Given the description of an element on the screen output the (x, y) to click on. 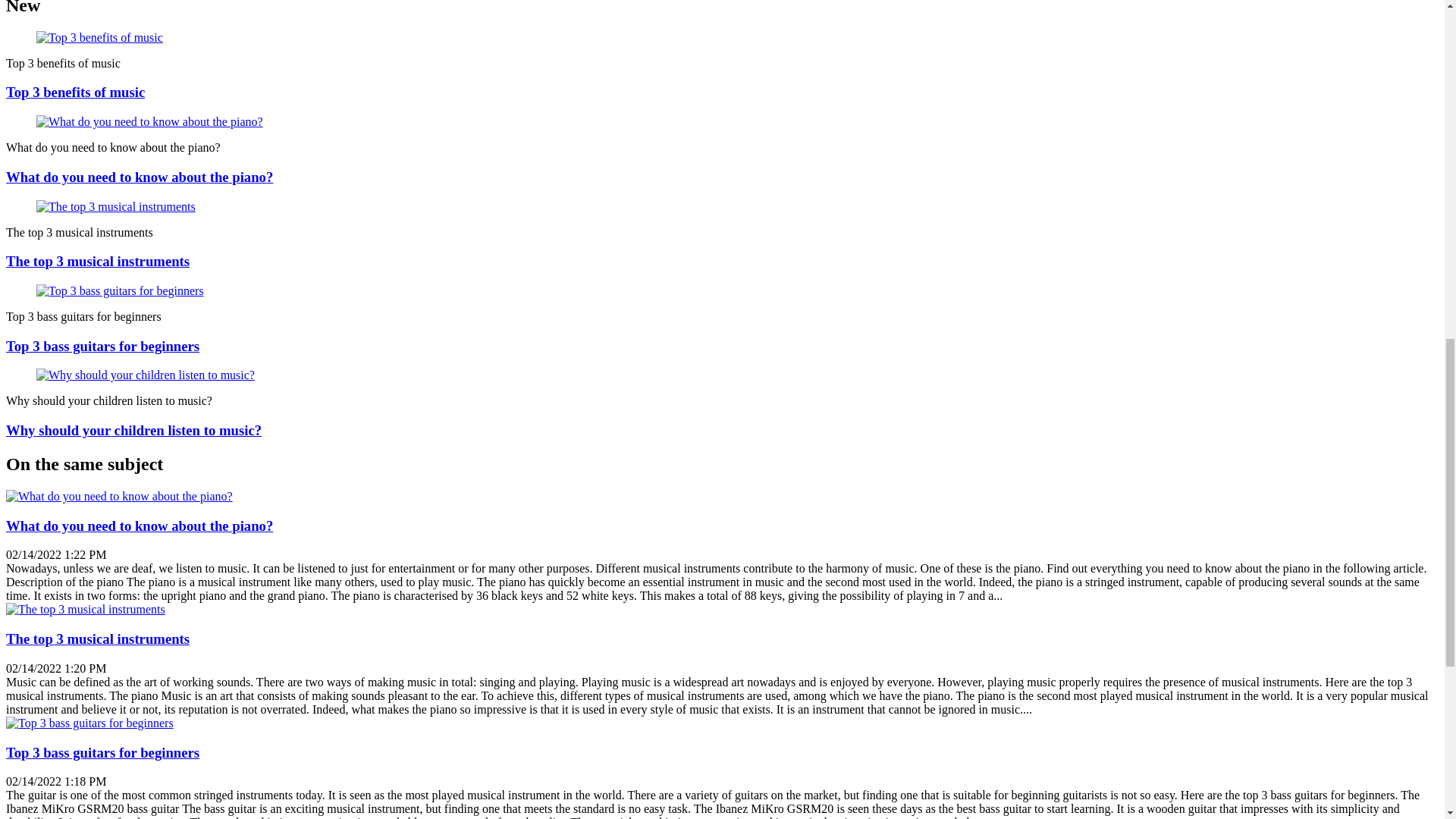
What do you need to know about the piano? (118, 495)
Top 3 bass guitars for beginners (102, 752)
Top 3 bass guitars for beginners (102, 752)
Top 3 benefits of music (74, 91)
The top 3 musical instruments (97, 261)
What do you need to know about the piano? (139, 176)
Why should your children listen to music? (133, 430)
What do you need to know about the piano? (139, 525)
Why should your children listen to music? (133, 430)
Top 3 bass guitars for beginners (102, 345)
